Given the description of an element on the screen output the (x, y) to click on. 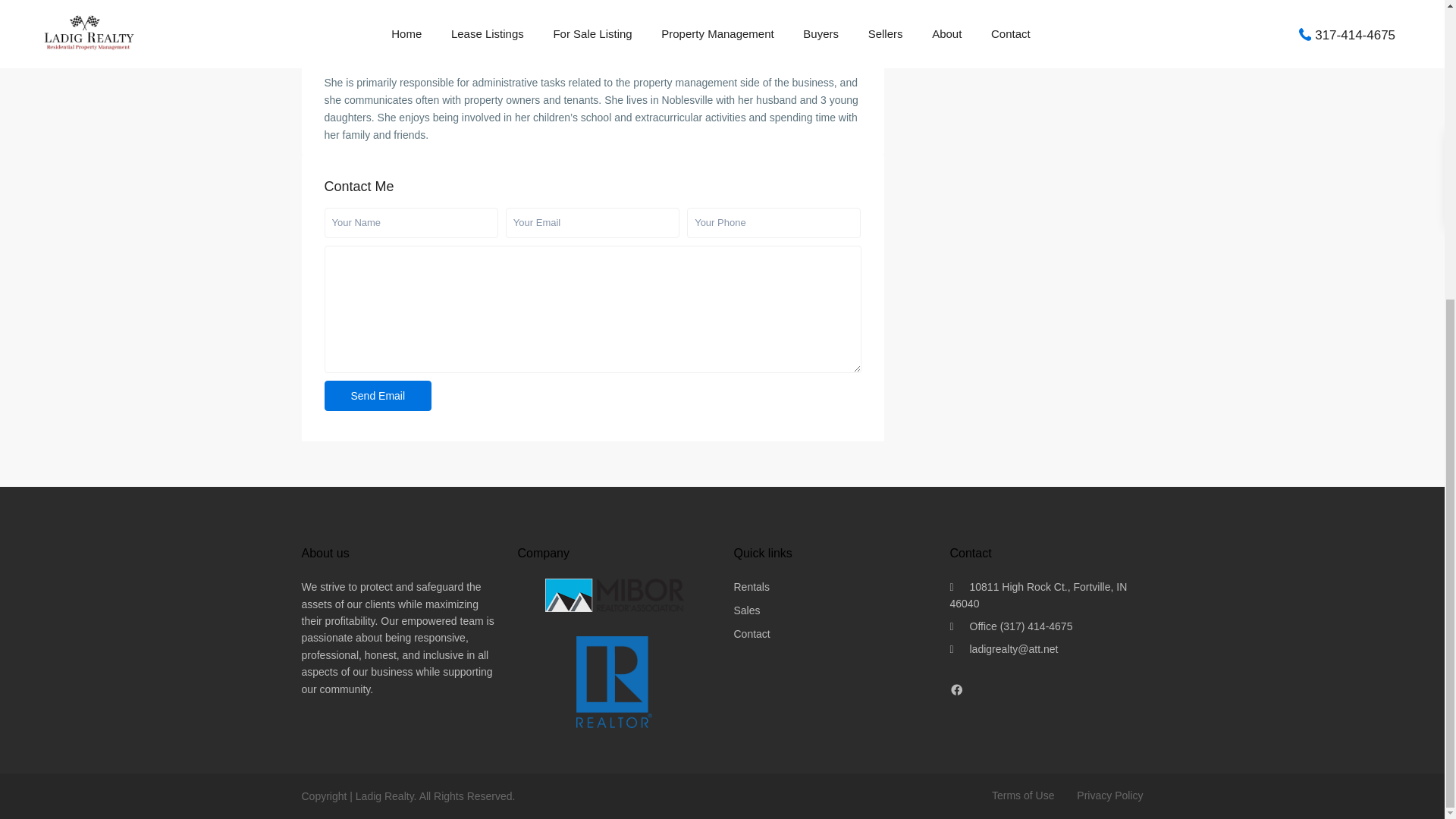
Send Email (378, 395)
